Given the description of an element on the screen output the (x, y) to click on. 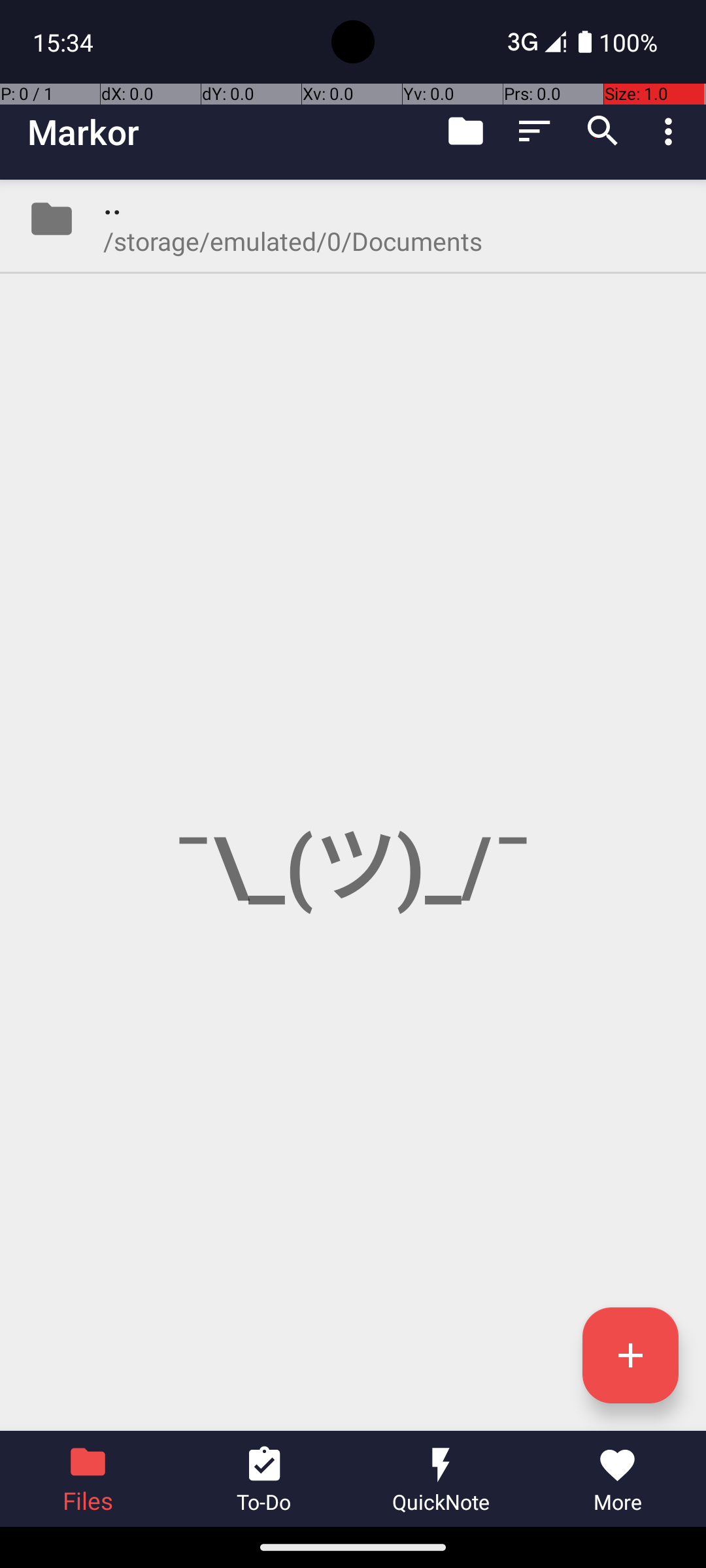
¯\_(ツ)_/¯ Element type: android.widget.TextView (353, 804)
